Given the description of an element on the screen output the (x, y) to click on. 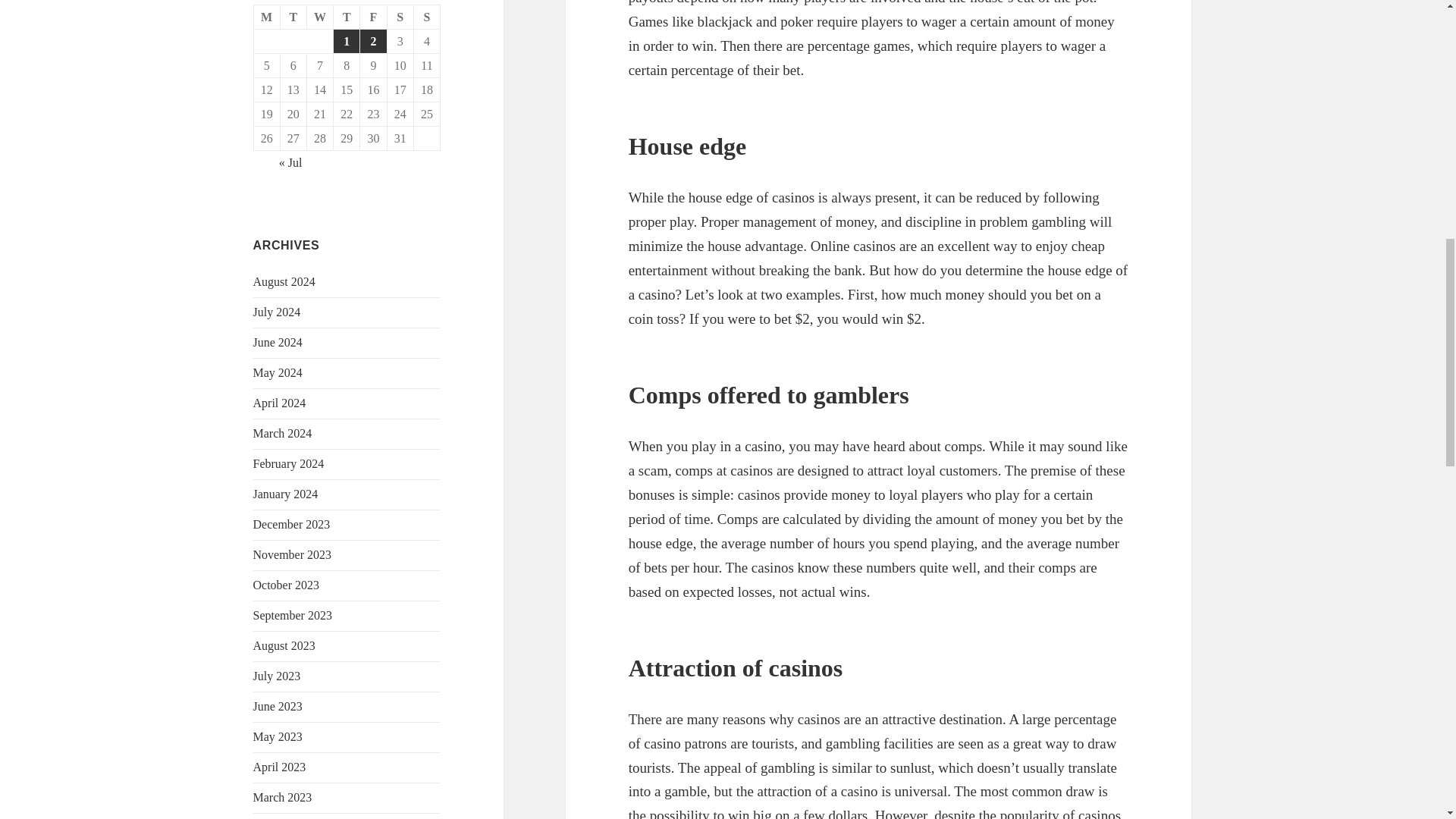
June 2023 (277, 706)
Saturday (400, 16)
Friday (373, 16)
Wednesday (320, 16)
April 2023 (279, 766)
June 2024 (277, 341)
July 2023 (277, 675)
December 2023 (291, 523)
September 2023 (292, 615)
April 2024 (279, 402)
March 2023 (283, 797)
1 (346, 41)
February 2024 (288, 463)
Tuesday (294, 16)
October 2023 (286, 584)
